Given the description of an element on the screen output the (x, y) to click on. 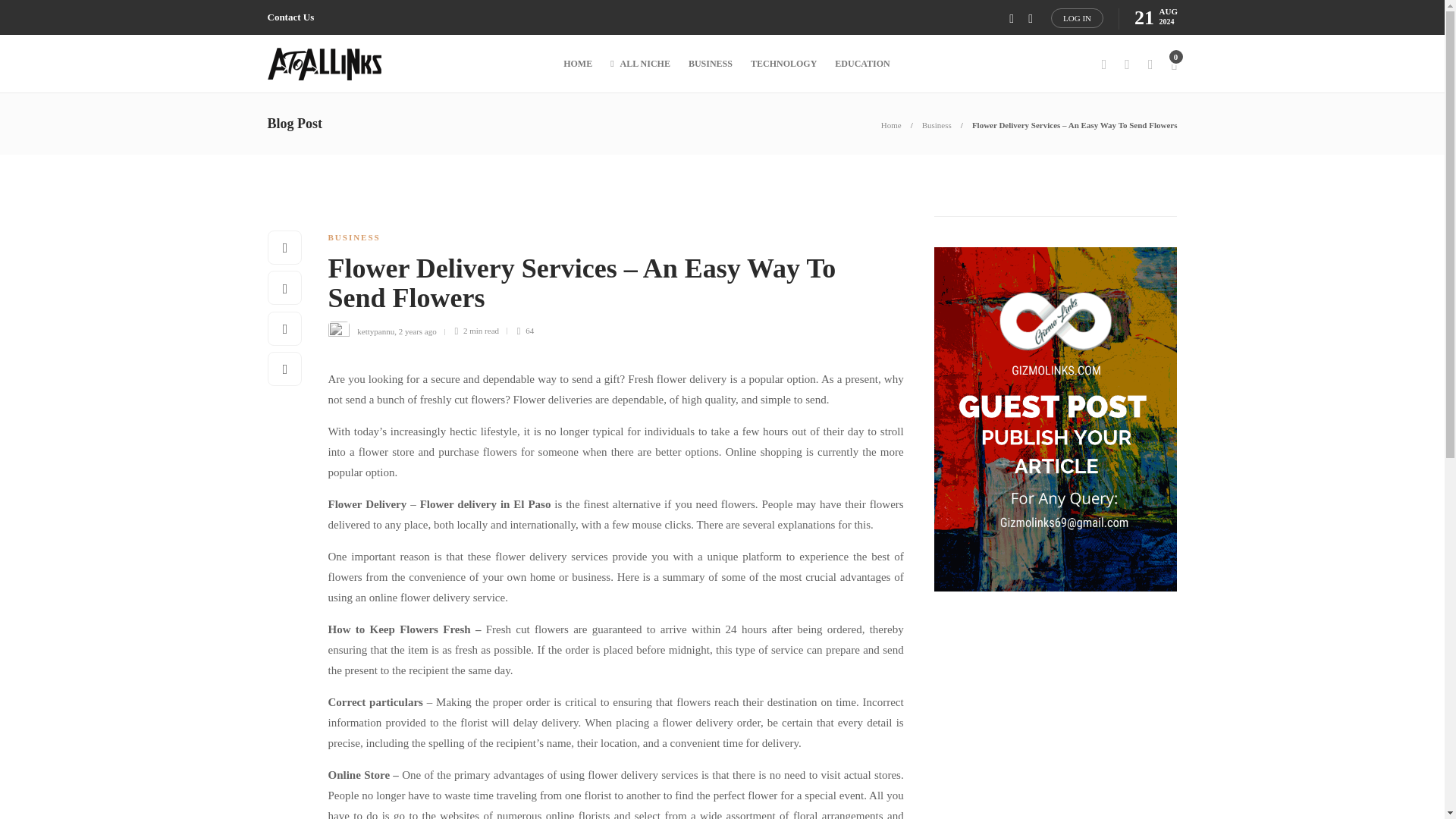
BUSINESS (353, 236)
Business (936, 124)
Home (890, 124)
Home (890, 124)
EDUCATION (861, 63)
Contact Us (290, 17)
TECHNOLOGY (783, 63)
LOG IN (1077, 17)
2 years ago (417, 329)
kettypannu (375, 329)
